Given the description of an element on the screen output the (x, y) to click on. 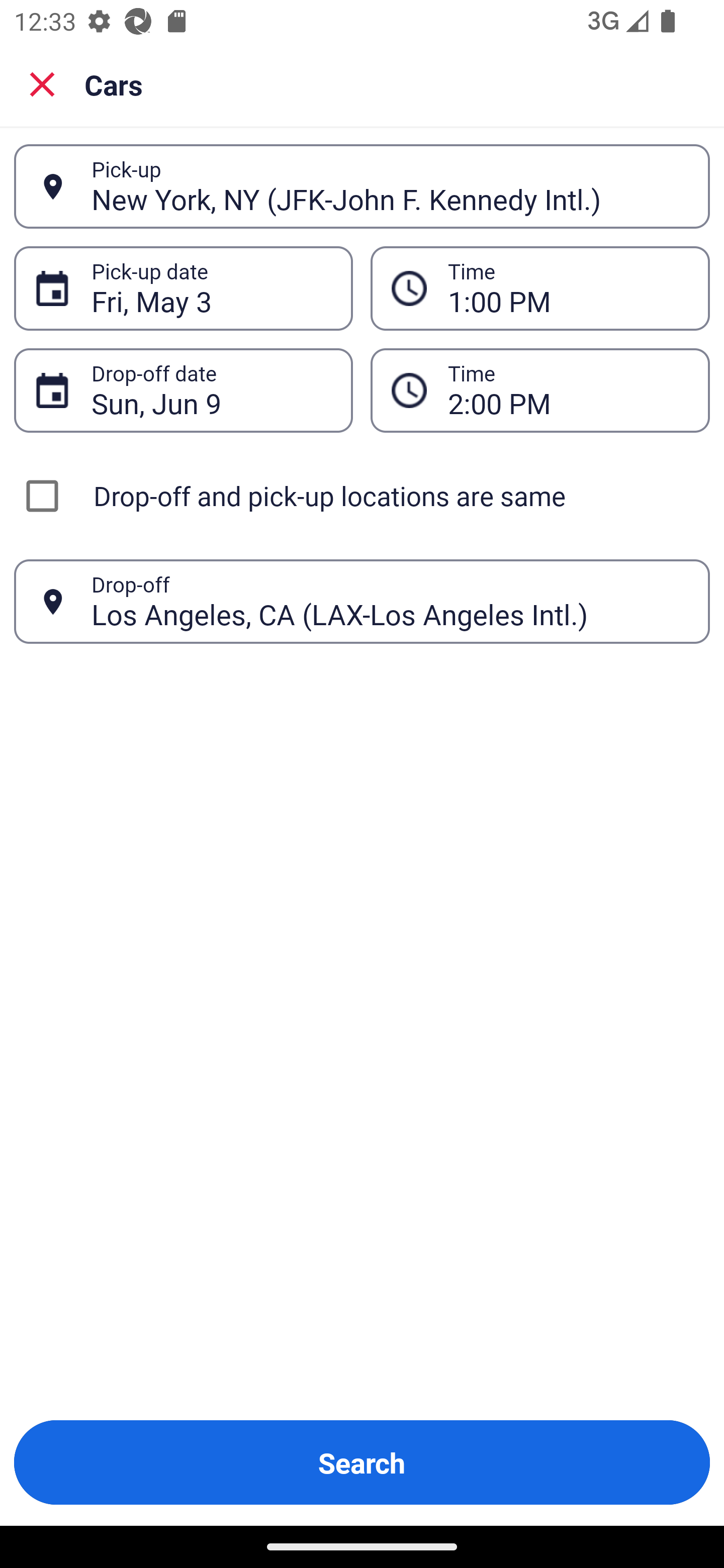
Close search screen (42, 84)
New York, NY (JFK-John F. Kennedy Intl.) (389, 186)
Fri, May 3 (211, 288)
1:00 PM (568, 288)
Sun, Jun 9 (211, 390)
2:00 PM (568, 390)
Drop-off and pick-up locations are same (361, 495)
Los Angeles, CA (LAX-Los Angeles Intl.) (389, 601)
Search Button Search (361, 1462)
